Given the description of an element on the screen output the (x, y) to click on. 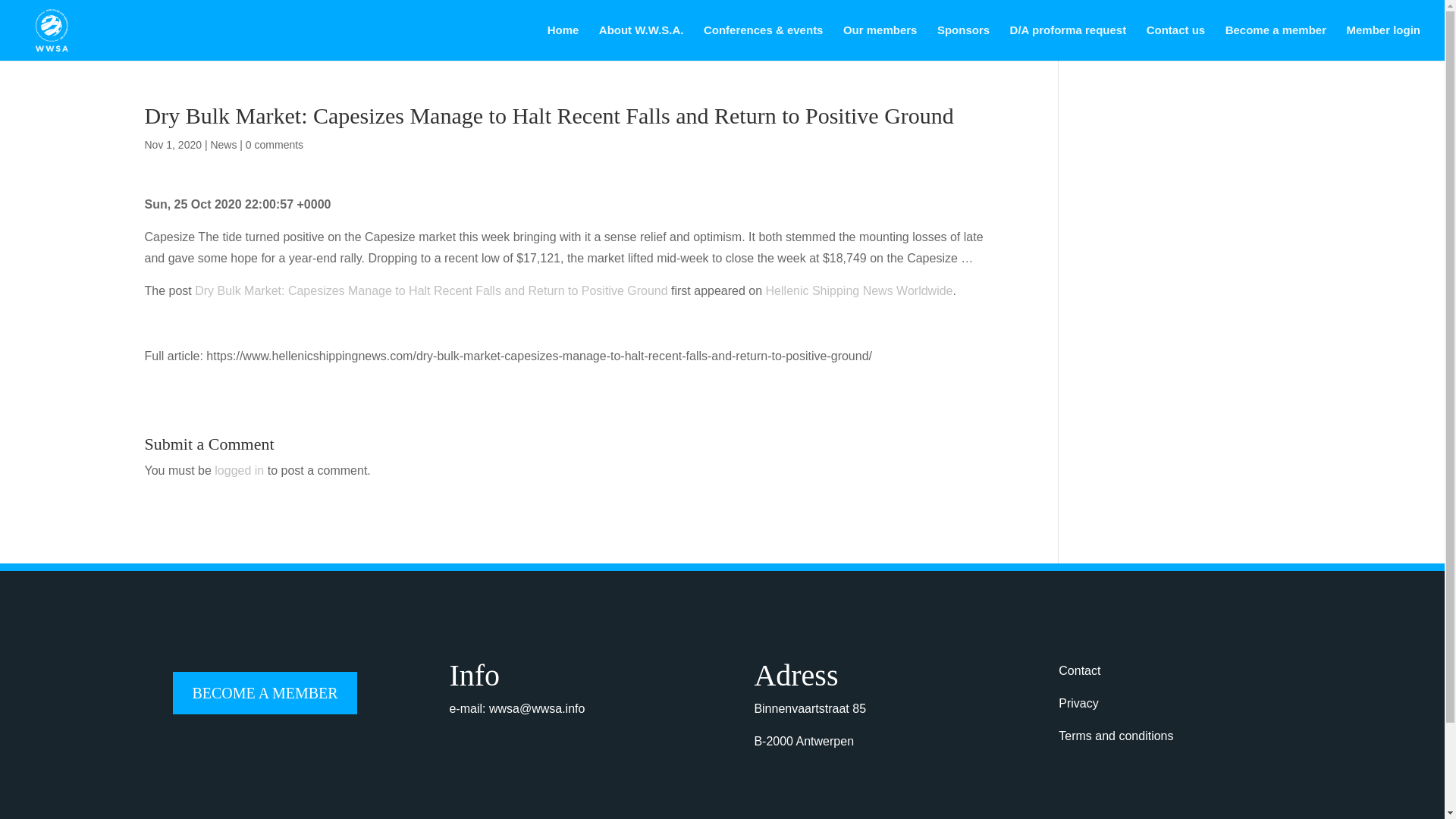
Sponsors (963, 42)
Contact us (1176, 42)
logged in (238, 470)
About W.W.S.A. (641, 42)
0 comments (274, 144)
Home (563, 42)
Member login (1383, 42)
BECOME A MEMBER (264, 692)
Hellenic Shipping News Worldwide (859, 290)
Our members (880, 42)
Privacy (1077, 703)
News (222, 144)
Contact (1079, 670)
Terms and conditions (1115, 735)
